Given the description of an element on the screen output the (x, y) to click on. 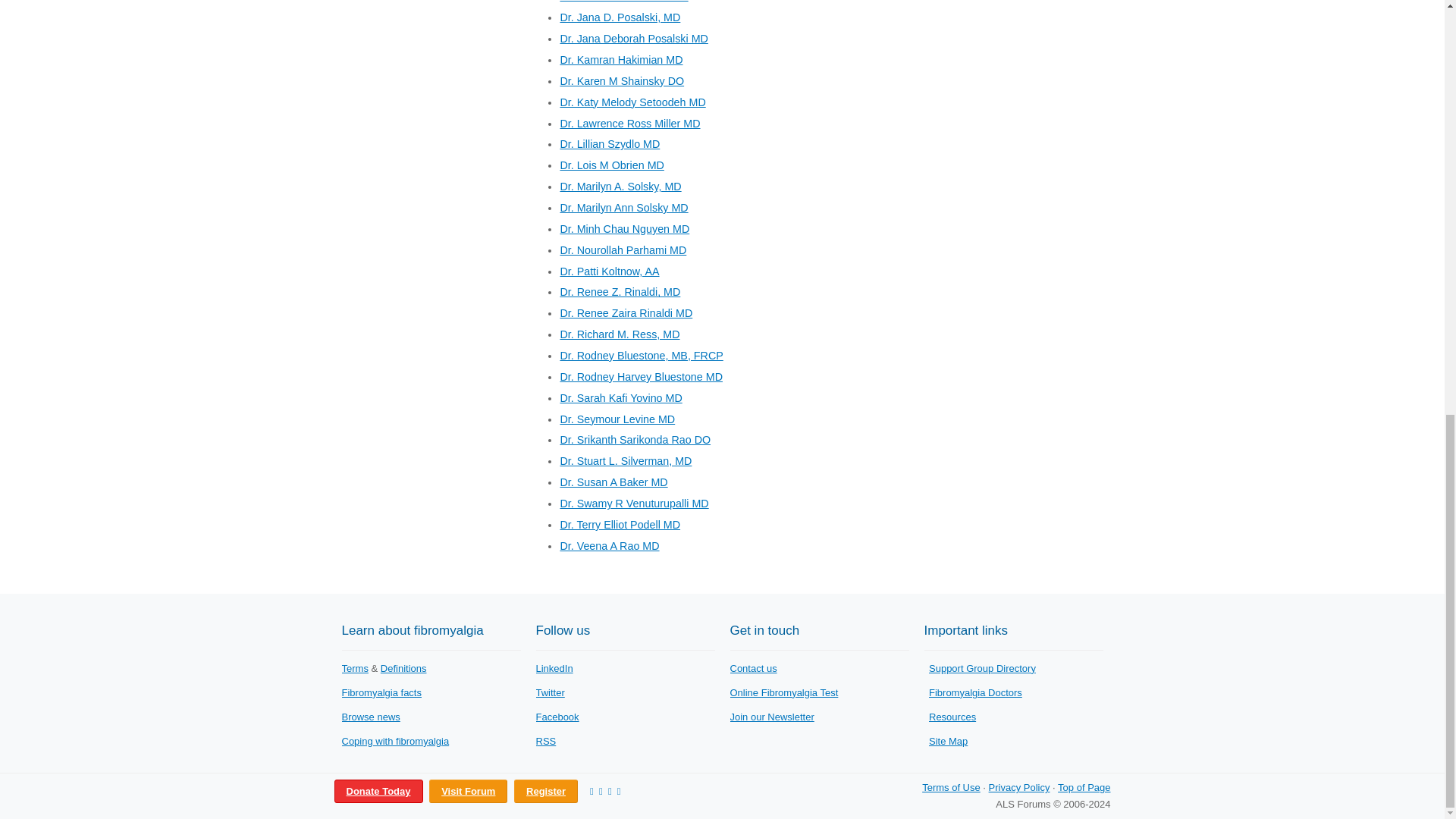
Browse our news (369, 716)
Coping with fibromyalgia (394, 740)
Definition listing (403, 668)
Facts about Fibromyalgia (380, 692)
Term listing (354, 668)
Dr. F Marina Russman MD (623, 1)
